Given the description of an element on the screen output the (x, y) to click on. 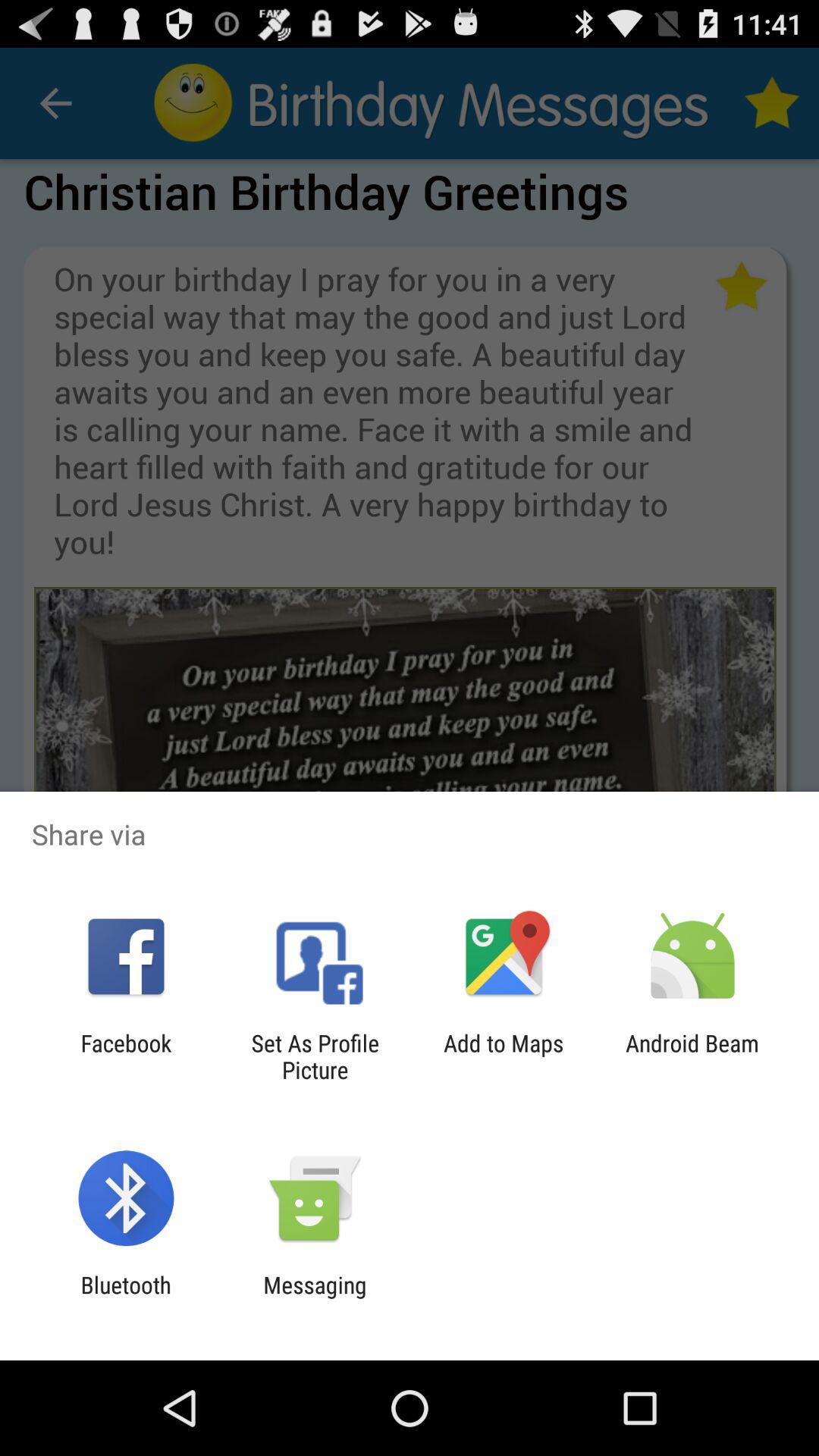
turn on app at the bottom right corner (692, 1056)
